Given the description of an element on the screen output the (x, y) to click on. 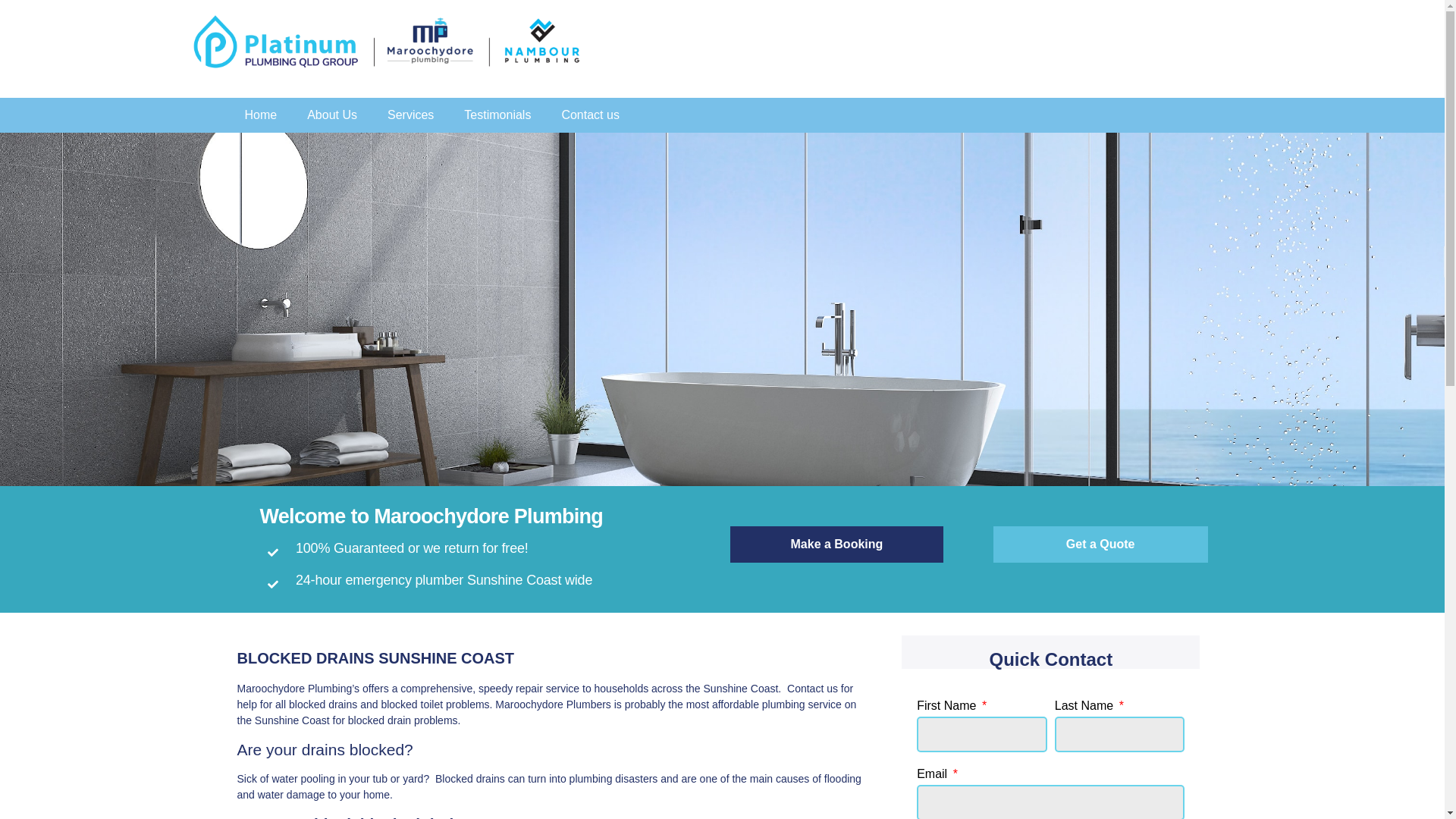
Services Element type: text (410, 114)
Make a Booking Element type: text (836, 544)
Contact us Element type: text (589, 114)
Home Element type: text (260, 114)
About Us Element type: text (331, 114)
Testimonials Element type: text (497, 114)
Get a Quote Element type: text (1100, 544)
